Given the description of an element on the screen output the (x, y) to click on. 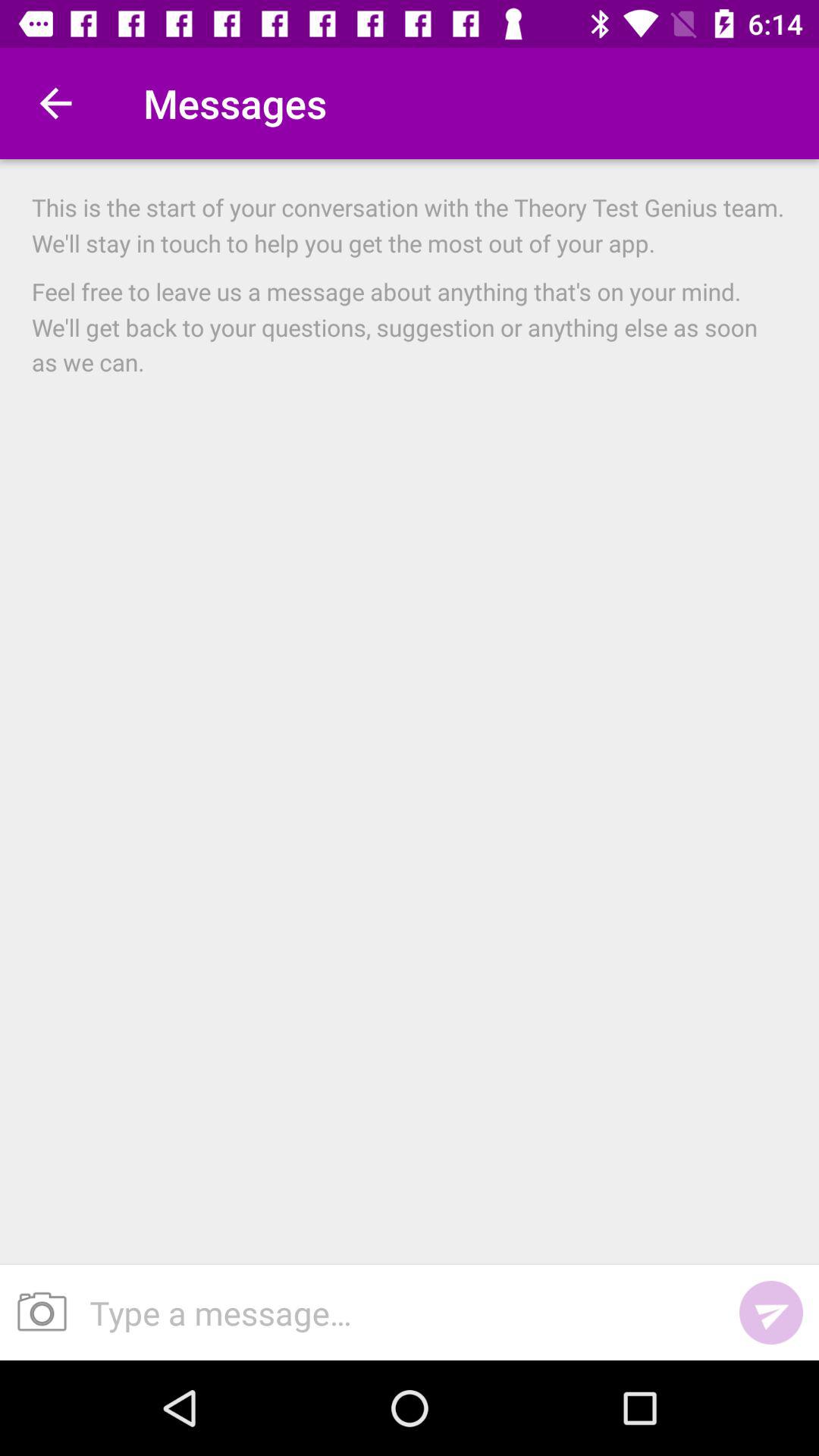
enter message (398, 1312)
